Given the description of an element on the screen output the (x, y) to click on. 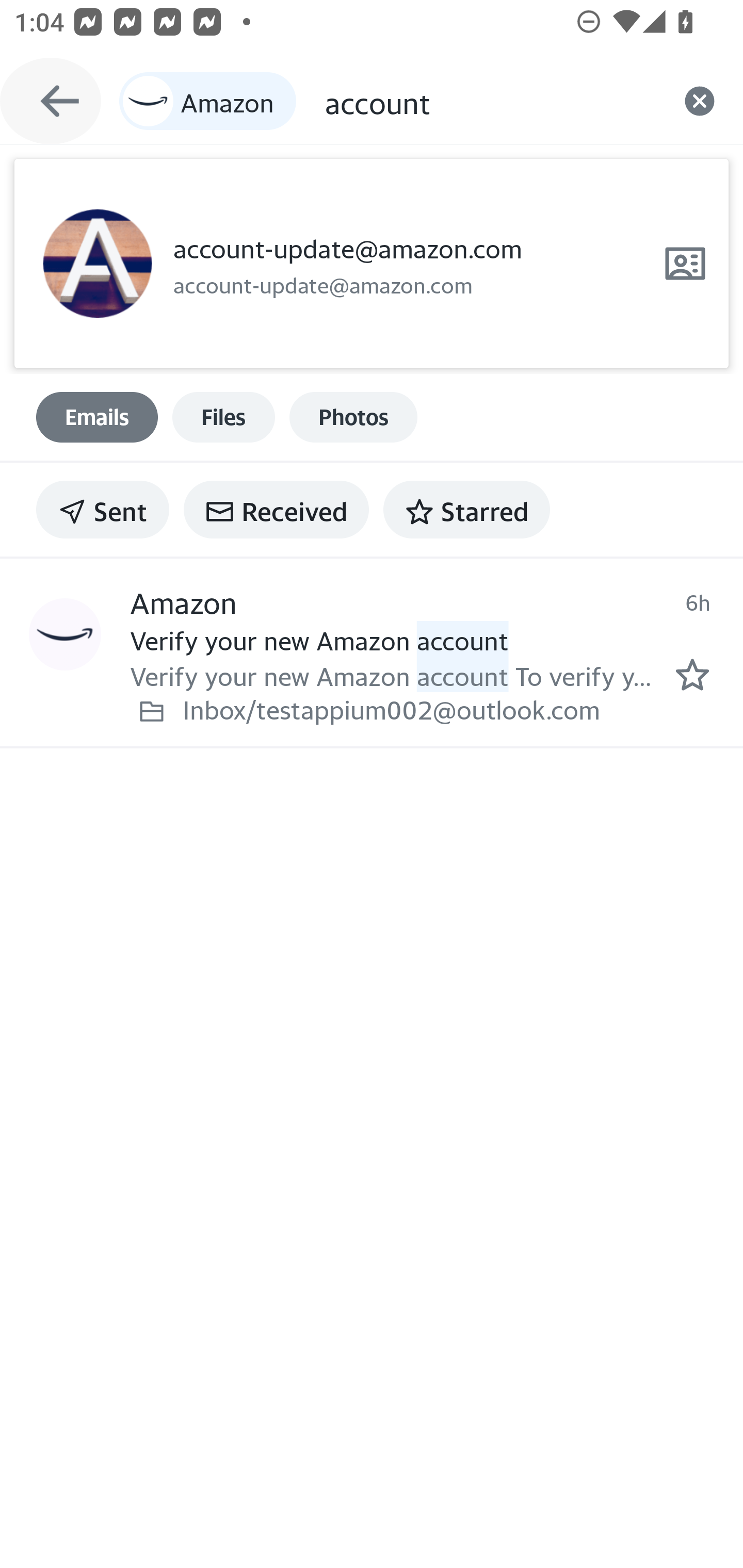
Back (50, 101)
account (490, 101)
Clear (699, 101)
Profile (97, 264)
Emails (96, 417)
Files (223, 417)
Photos (353, 417)
Sent (102, 509)
Received (276, 509)
Starred (466, 509)
Profile
Amazon (64, 634)
Mark as starred. (692, 674)
